Given the description of an element on the screen output the (x, y) to click on. 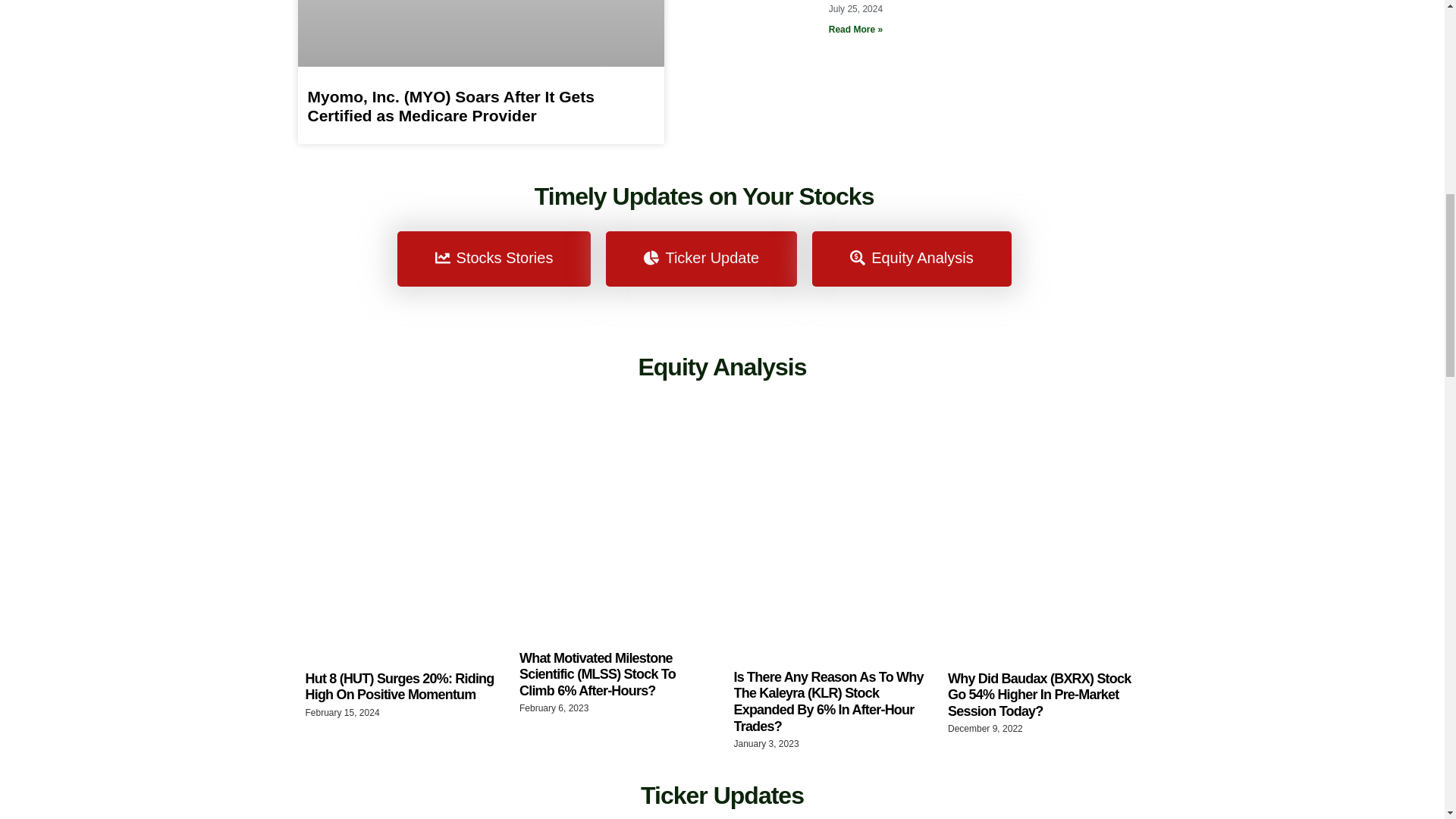
Stocks Stories (494, 258)
Equity Analysis (721, 366)
Equity Analysis (911, 258)
Ticker Update (700, 258)
